Given the description of an element on the screen output the (x, y) to click on. 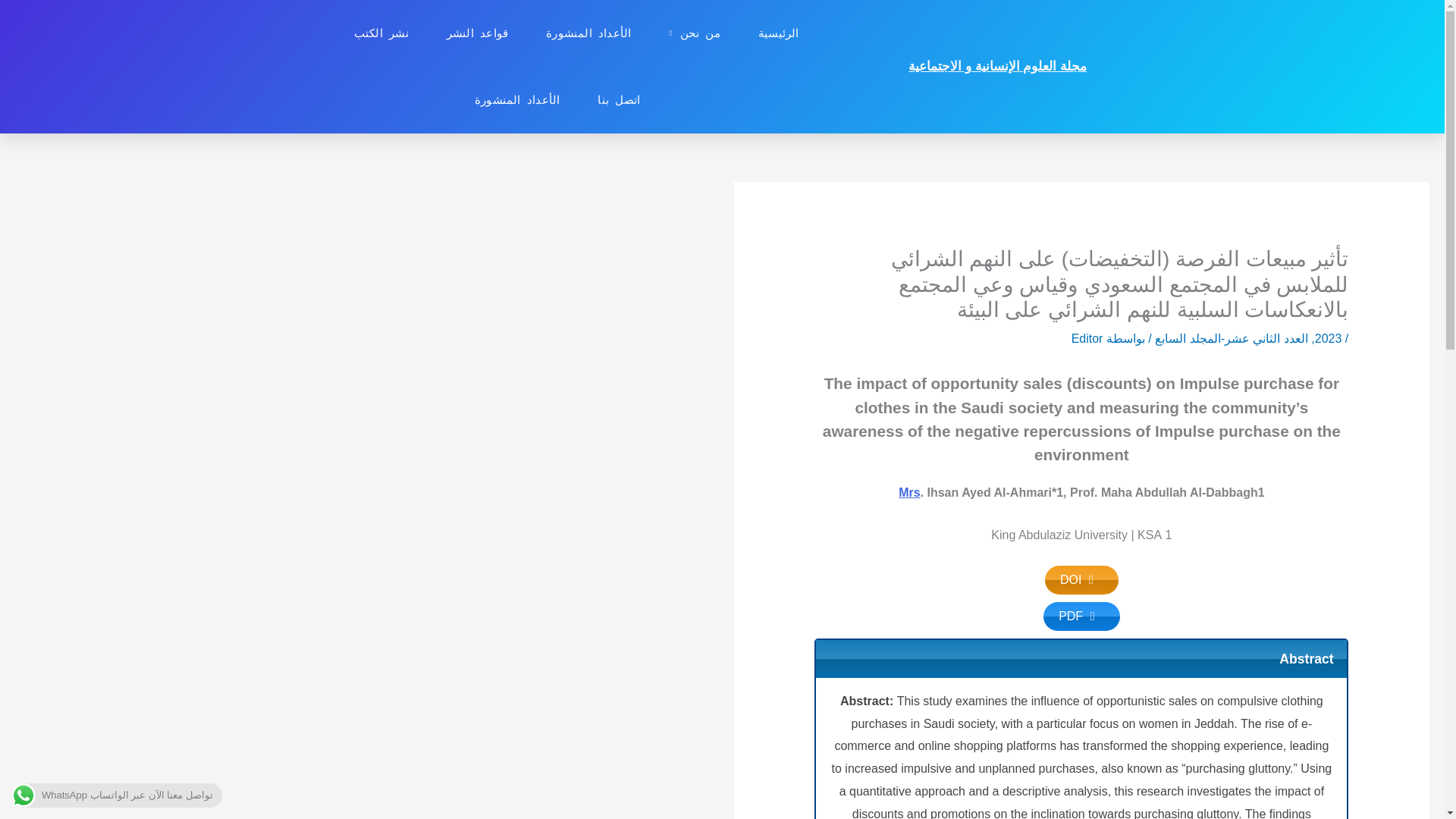
Mrs (909, 492)
2023 (1328, 338)
Editor (1087, 338)
DOI (1081, 579)
